Given the description of an element on the screen output the (x, y) to click on. 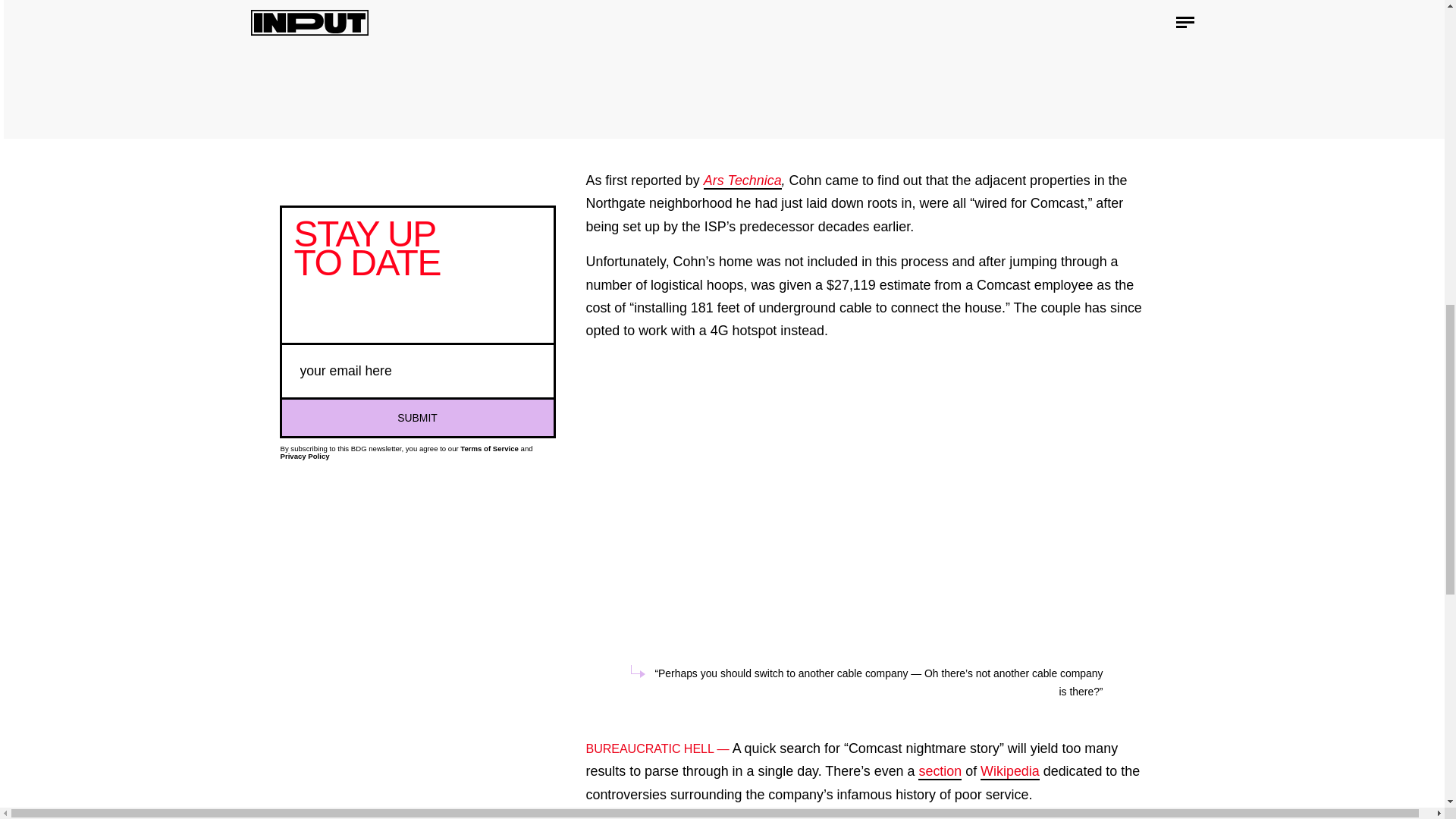
Wikipedia (1009, 771)
Ars Technica (742, 180)
section (939, 771)
SUBMIT (417, 416)
Privacy Policy (305, 456)
Terms of Service (489, 448)
